Given the description of an element on the screen output the (x, y) to click on. 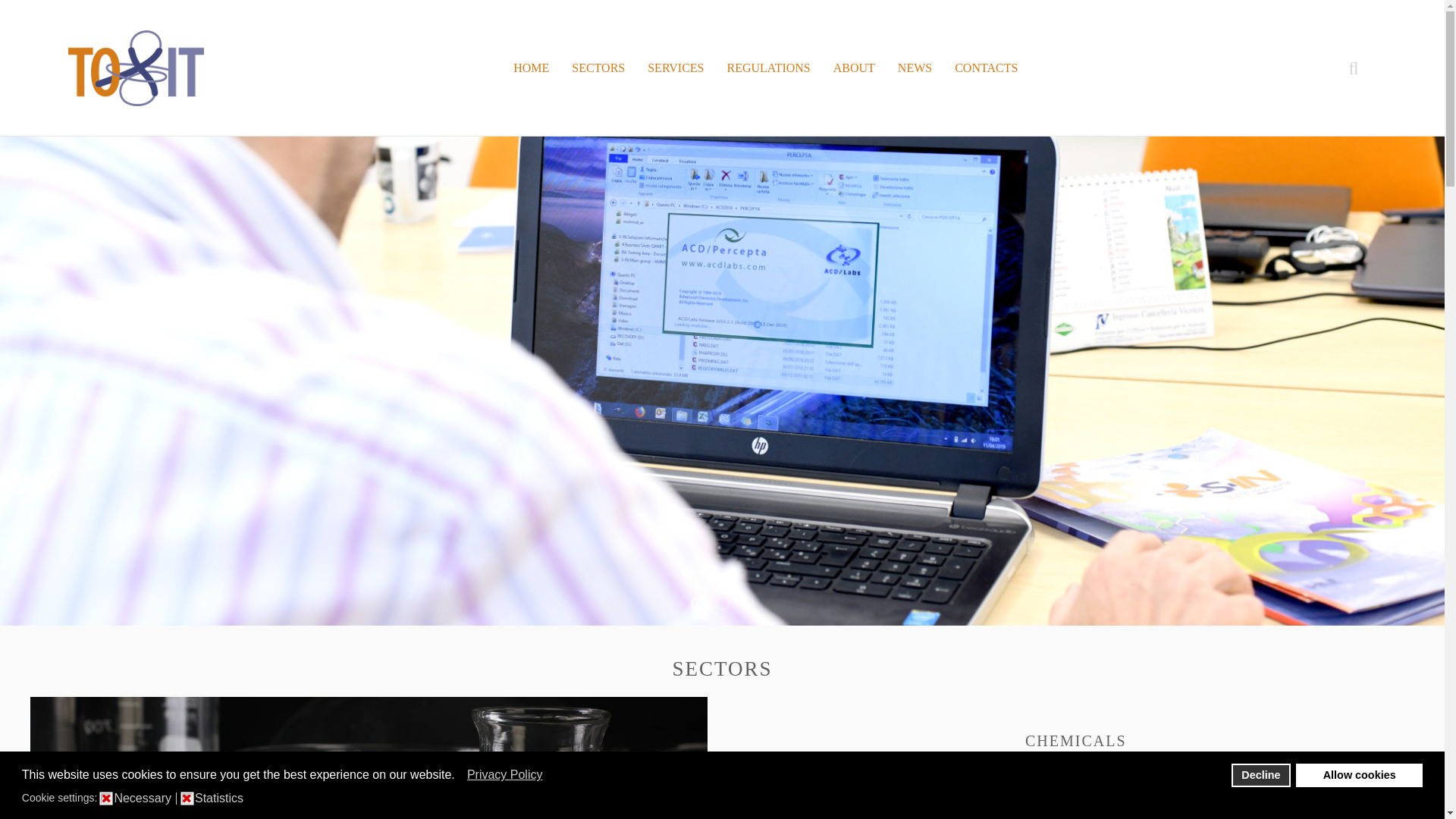
Toxit (135, 68)
Toxit Slideshow 1 1920x750 (696, 603)
CHEMICALS (1075, 740)
Decline (1260, 774)
Toxit Slideshow 3 1920x750 (746, 603)
Privacy Policy (505, 774)
Toxit Slideshow 2 1920x750 (722, 603)
1 (186, 798)
Allow cookies (1358, 774)
Necessary (144, 798)
Statistics (221, 798)
